Given the description of an element on the screen output the (x, y) to click on. 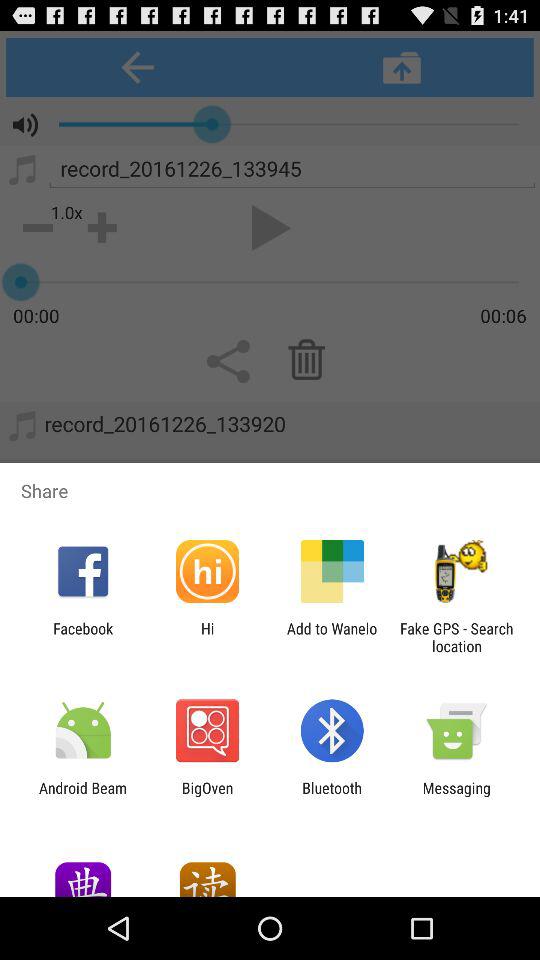
click add to wanelo (331, 637)
